Given the description of an element on the screen output the (x, y) to click on. 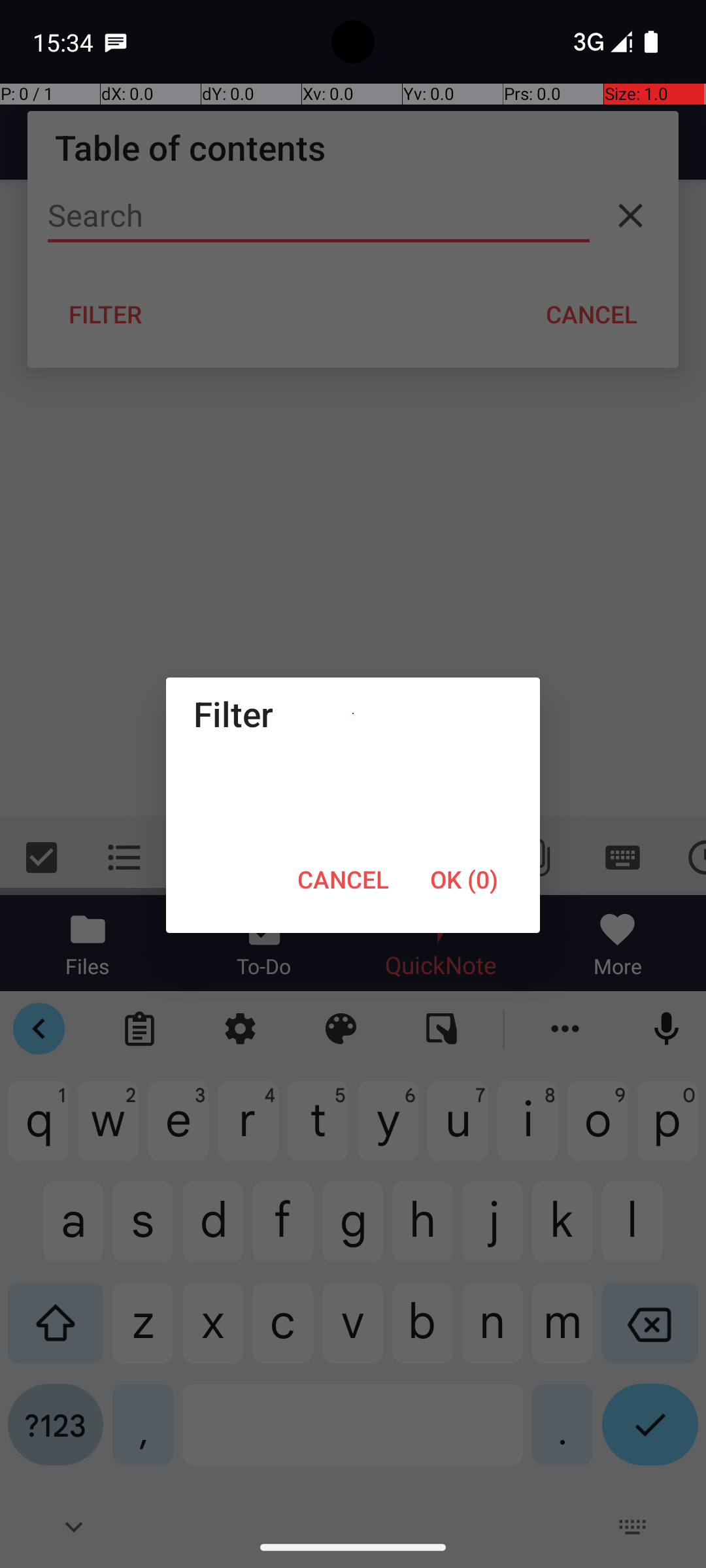
SMS Messenger notification: Martin Chen Element type: android.widget.ImageView (115, 41)
